Given the description of an element on the screen output the (x, y) to click on. 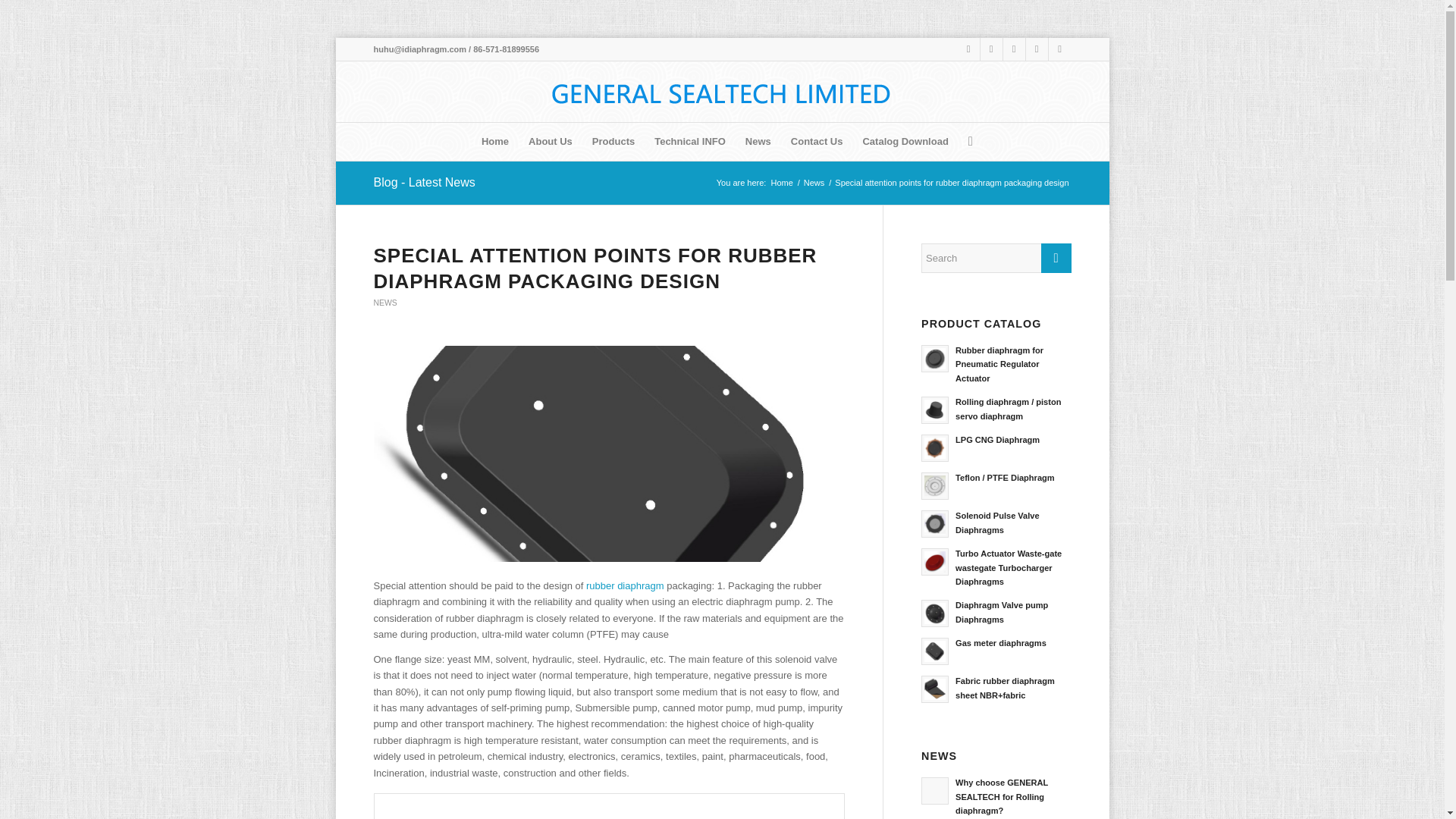
Products (613, 141)
Technical INFO (690, 141)
Home (494, 141)
Permanent Link: Blog - Latest News (423, 182)
About Us (550, 141)
